Given the description of an element on the screen output the (x, y) to click on. 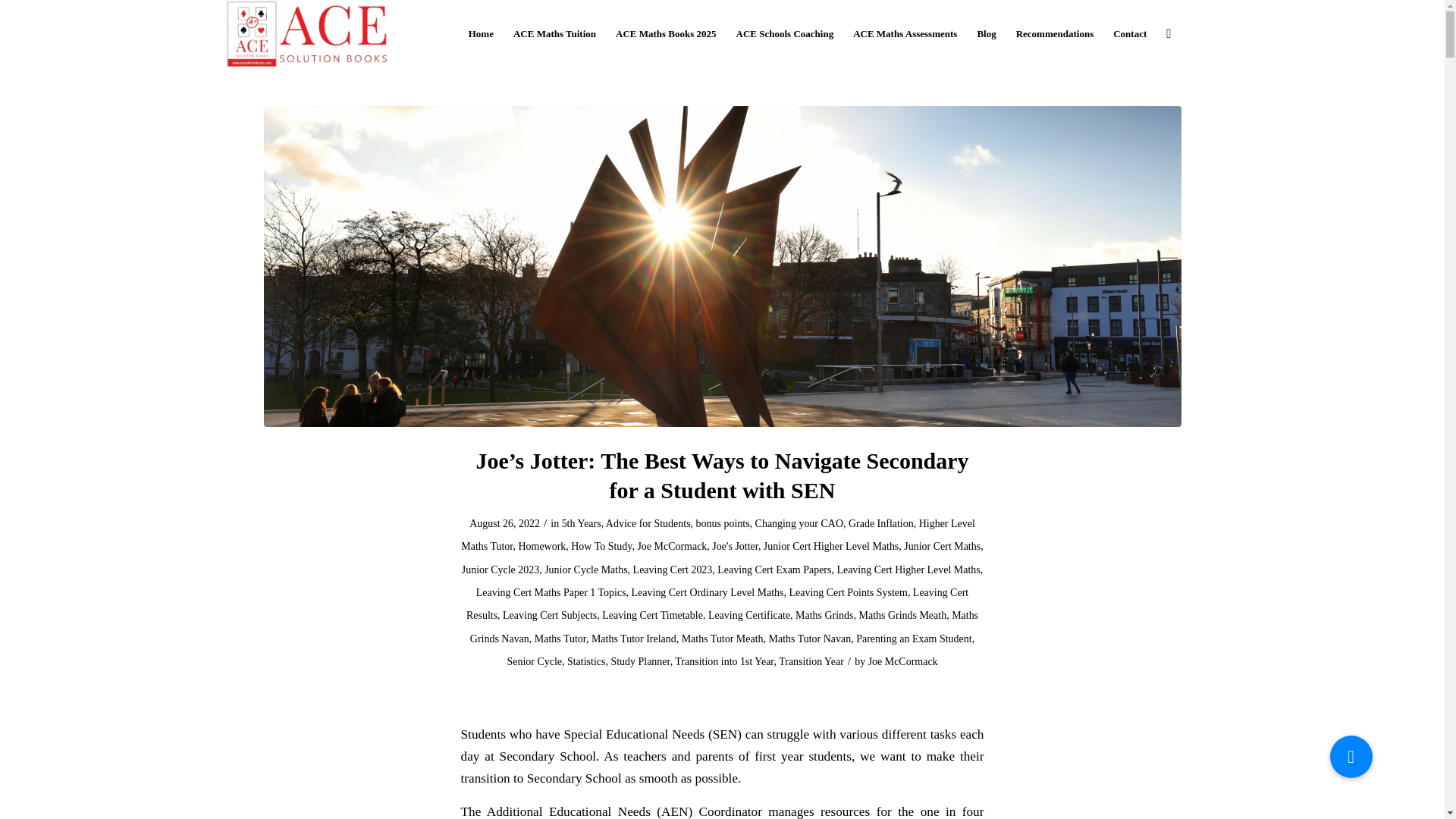
ACE Schools Coaching (785, 33)
Leaving Certificate (748, 614)
Recommendations (1054, 33)
ACE Maths Tuition (554, 33)
ACE Maths Assessments (904, 33)
Posts by Joe McCormack (902, 661)
Junior Cert Higher Level Maths (830, 546)
bonus points (722, 523)
Changing your CAO (799, 523)
Maths Grinds (823, 614)
Junior Cycle 2023 (499, 569)
5th Years (581, 523)
Junior Cert Maths (941, 546)
How To Study (600, 546)
Leaving Cert Timetable (652, 614)
